Given the description of an element on the screen output the (x, y) to click on. 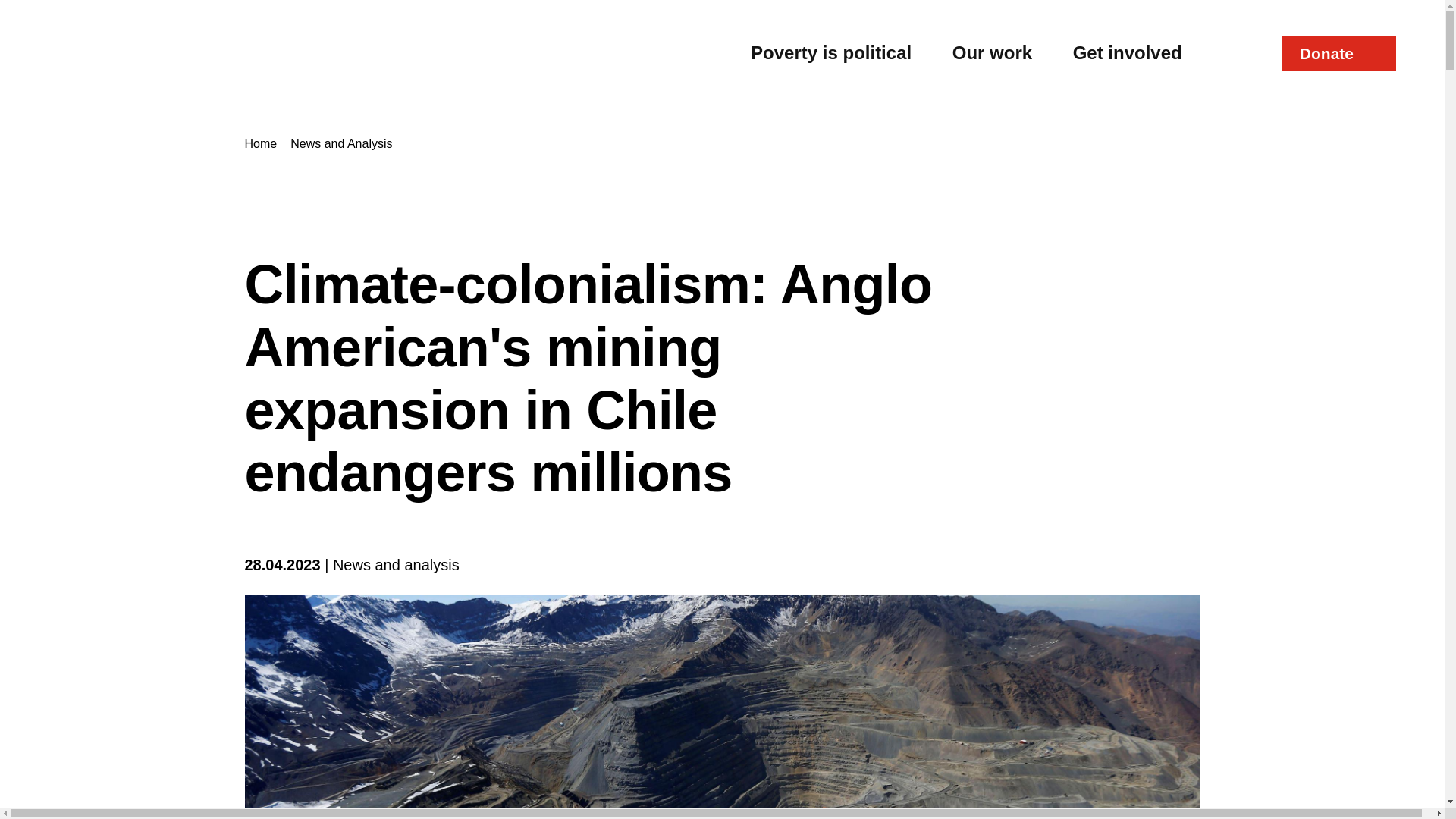
Donate (1338, 53)
Our work (992, 53)
Get involved (1127, 53)
Home (261, 143)
Poverty is political (831, 53)
News and Analysis (341, 143)
